Given the description of an element on the screen output the (x, y) to click on. 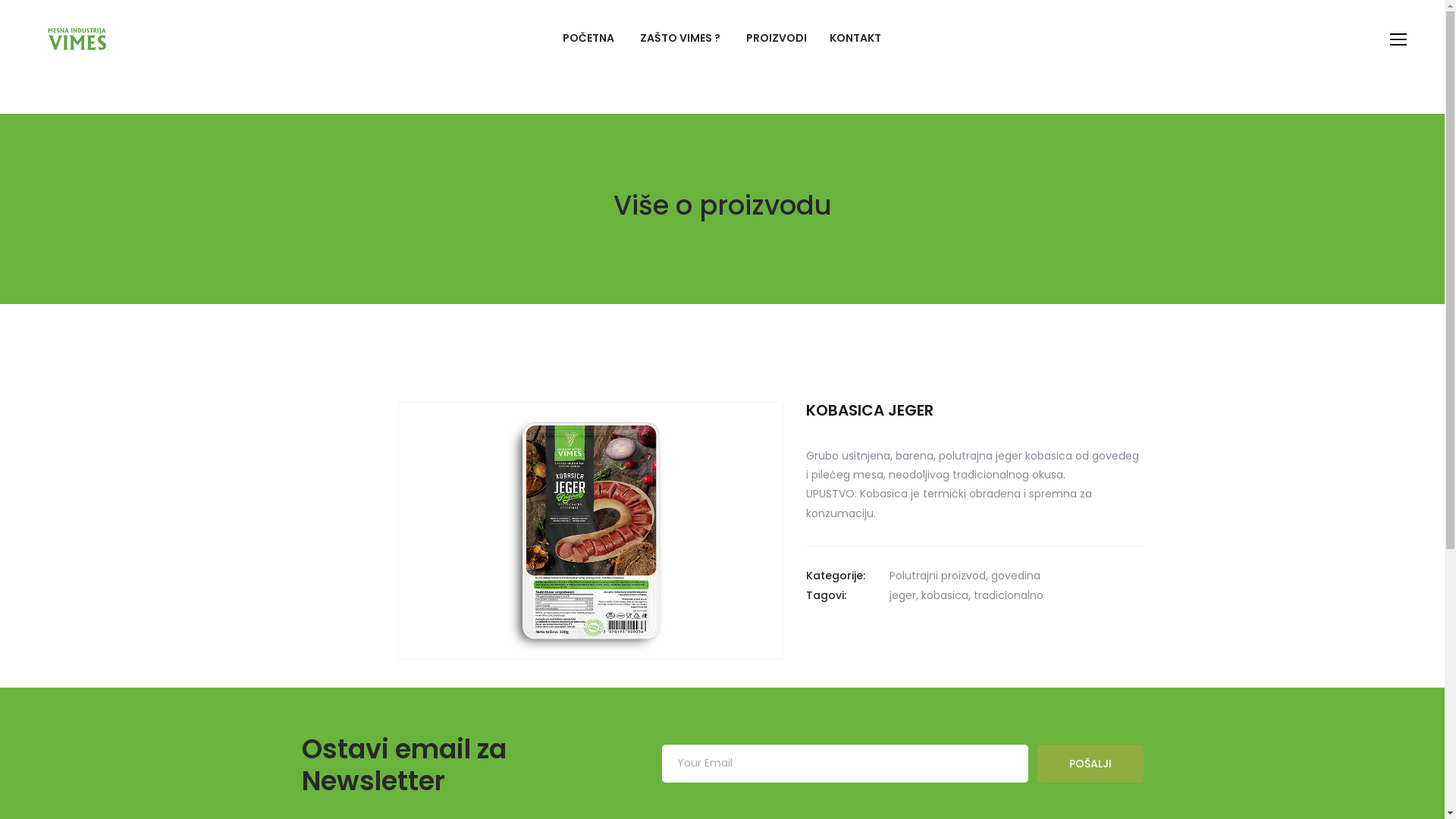
Polutrajni proizvod Element type: text (936, 575)
govedina Element type: text (1014, 575)
KONTAKT Element type: text (855, 37)
tradicionalno Element type: text (1008, 594)
PROIZVODI Element type: text (776, 37)
jeger Element type: text (901, 594)
Vimes mesna industrija Element type: hover (76, 37)
kobasica Element type: text (943, 594)
